Given the description of an element on the screen output the (x, y) to click on. 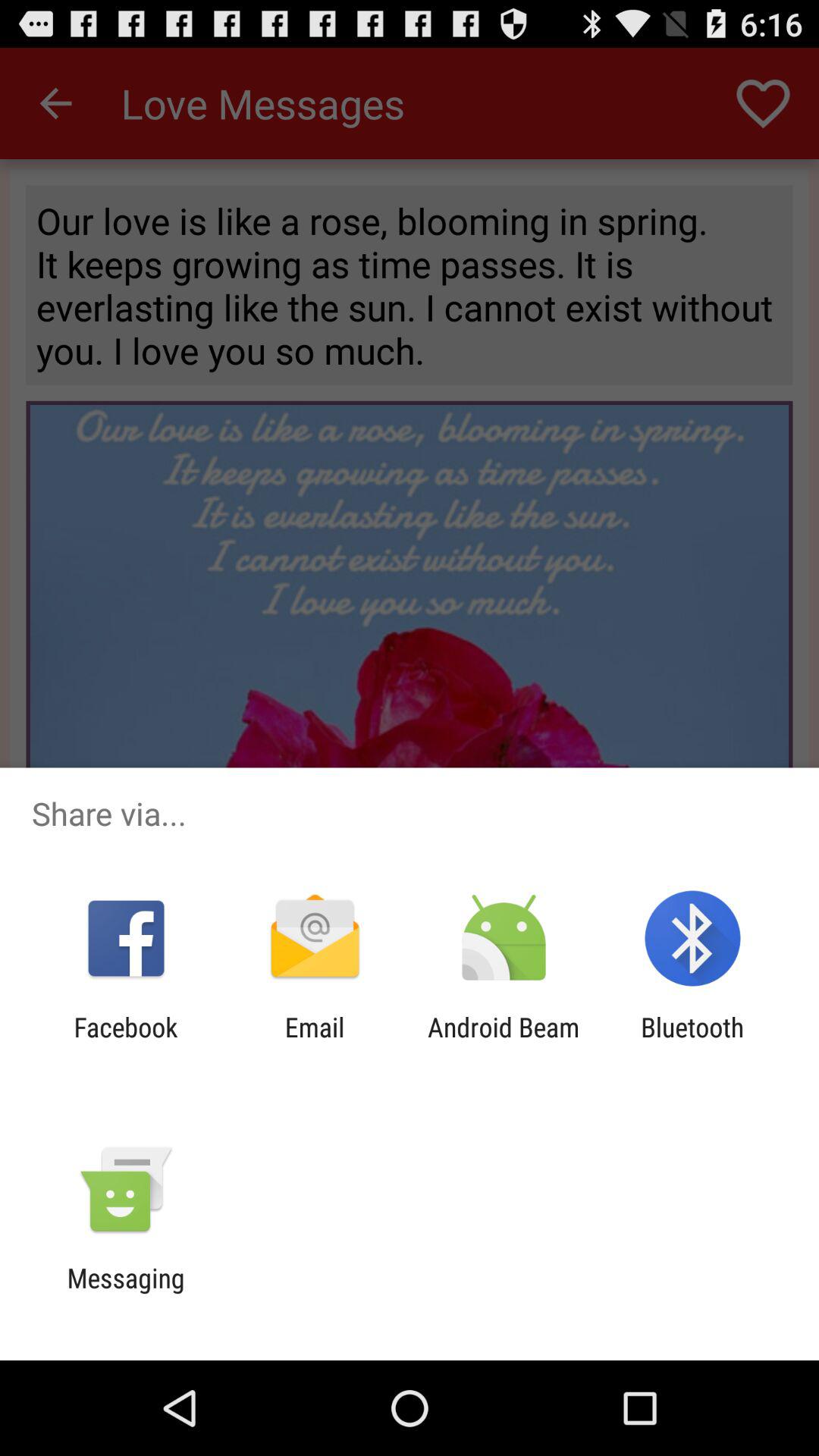
open icon to the right of the facebook item (314, 1042)
